Given the description of an element on the screen output the (x, y) to click on. 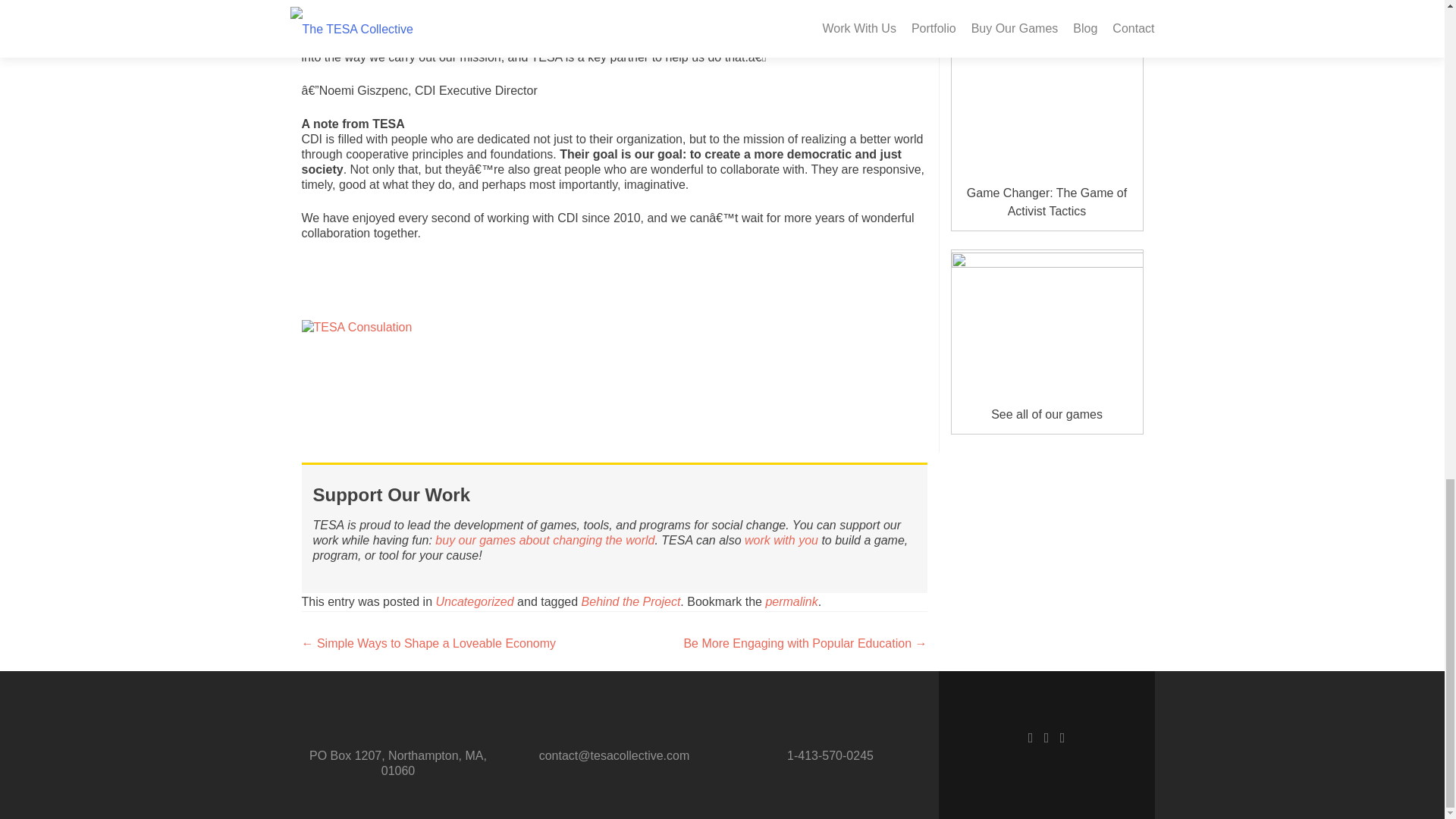
buy our games about changing the world (544, 540)
Facebook link (1030, 736)
Uncategorized (474, 601)
Instagram link (1062, 736)
Behind the Project (630, 601)
Twitter link (1046, 736)
work with you  (782, 540)
permalink (790, 601)
